Given the description of an element on the screen output the (x, y) to click on. 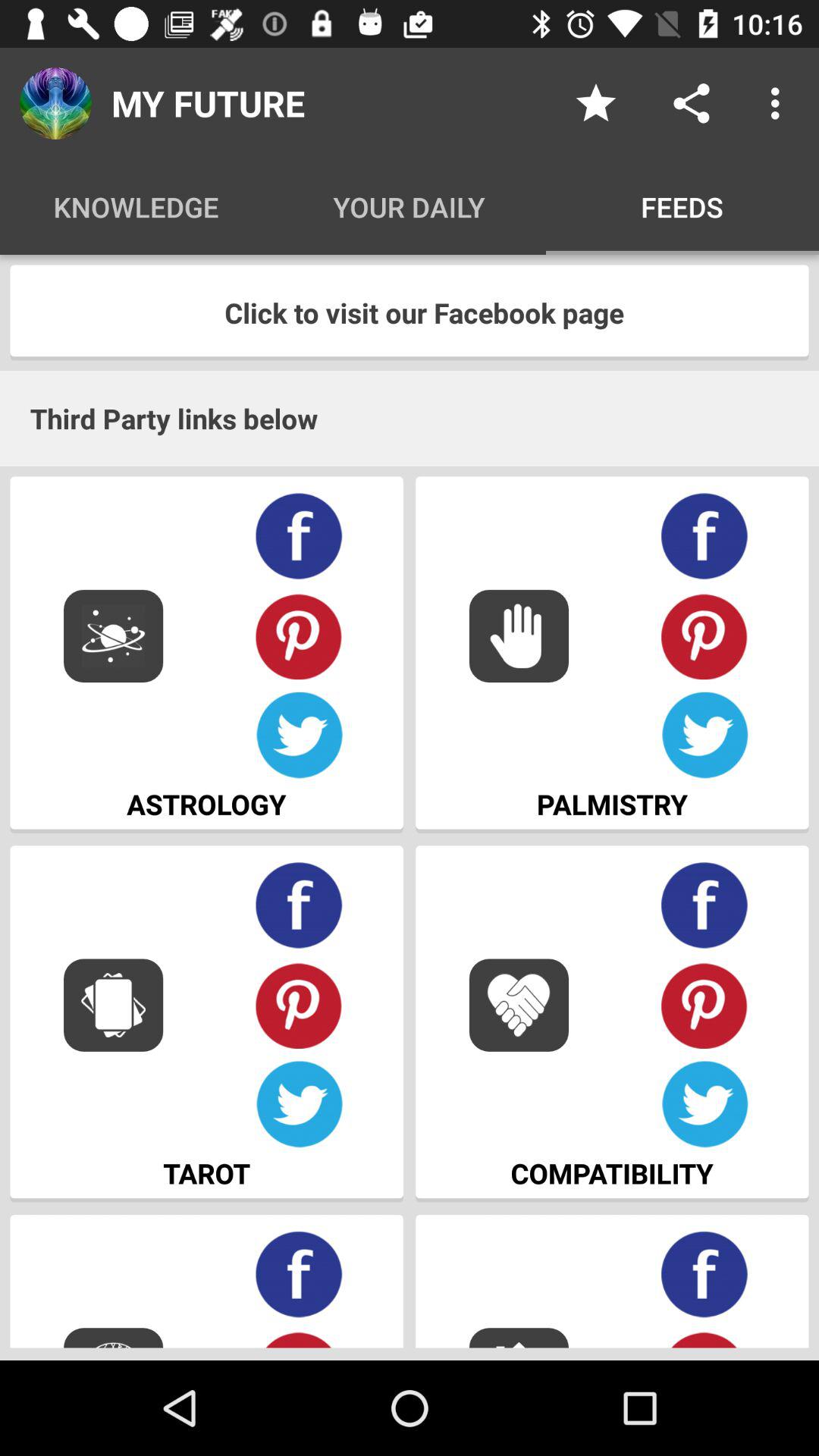
turn on the item next to my future icon (595, 103)
